Given the description of an element on the screen output the (x, y) to click on. 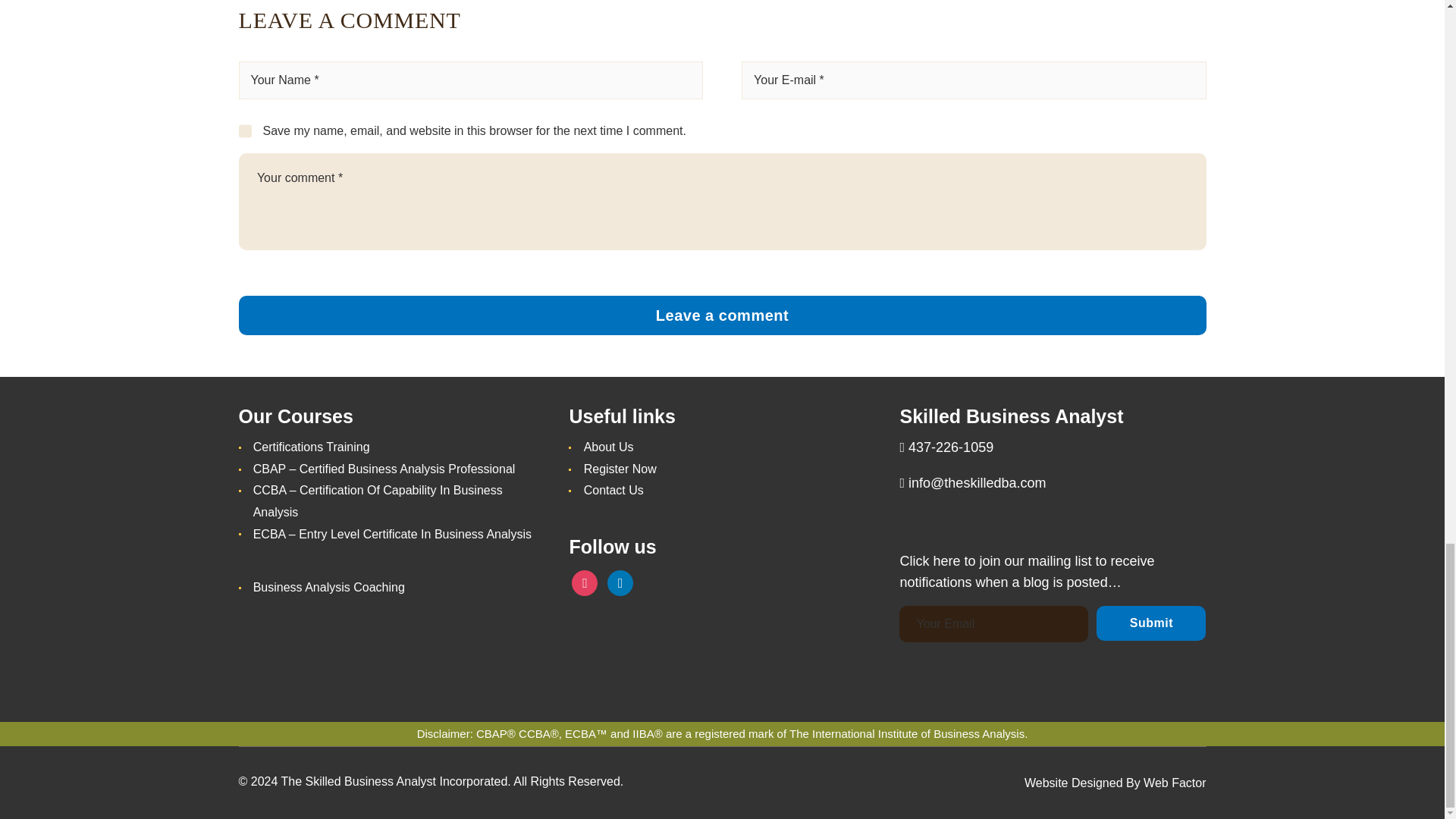
Leave a comment (721, 314)
Default Label (620, 581)
Submit (1150, 623)
Instagram (584, 581)
